Given the description of an element on the screen output the (x, y) to click on. 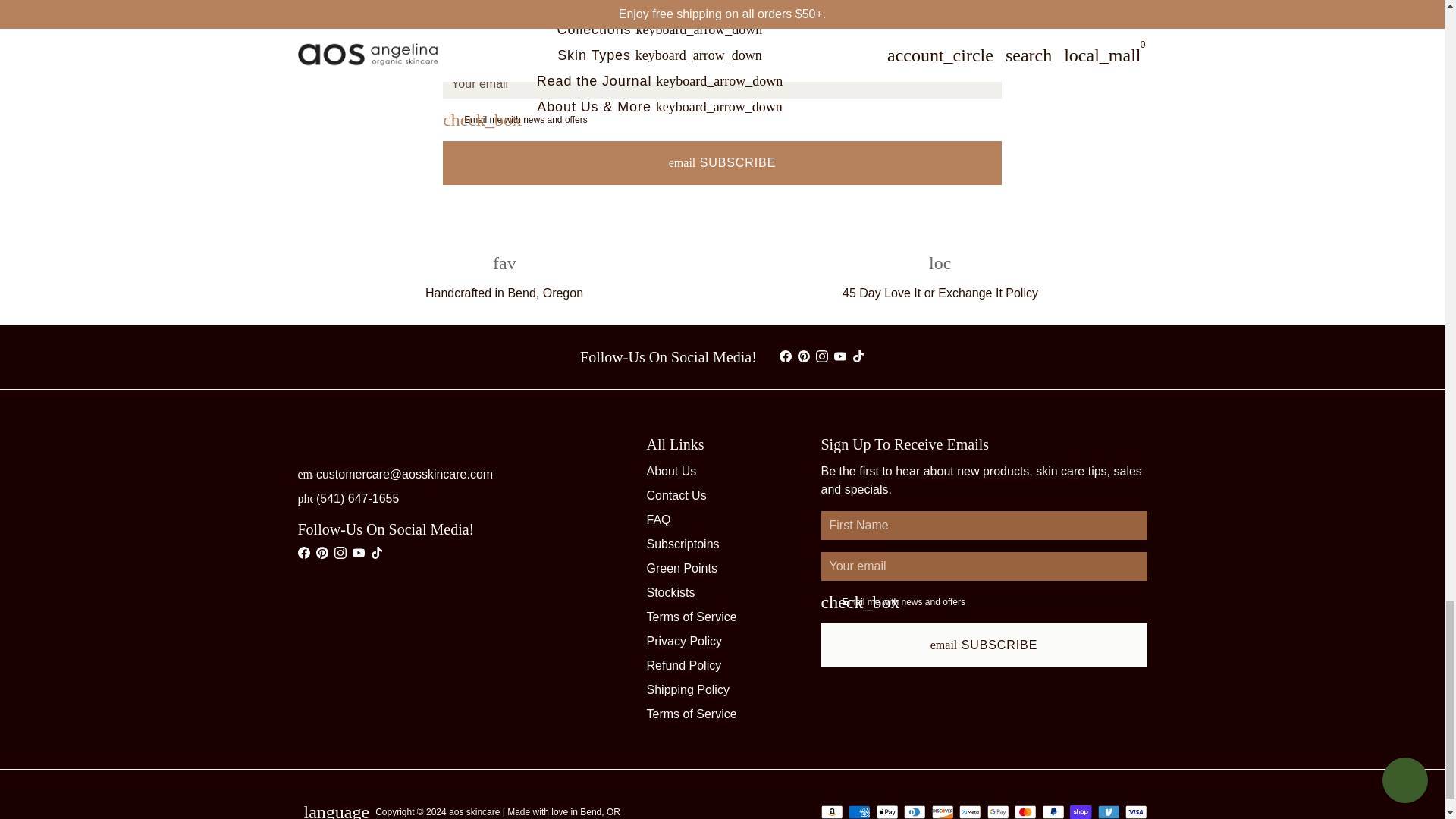
Apple Pay (887, 812)
Google Pay (998, 812)
Discover (941, 812)
American Express (859, 812)
Amazon (831, 812)
Diners Club (915, 812)
Meta Pay (970, 812)
